Given the description of an element on the screen output the (x, y) to click on. 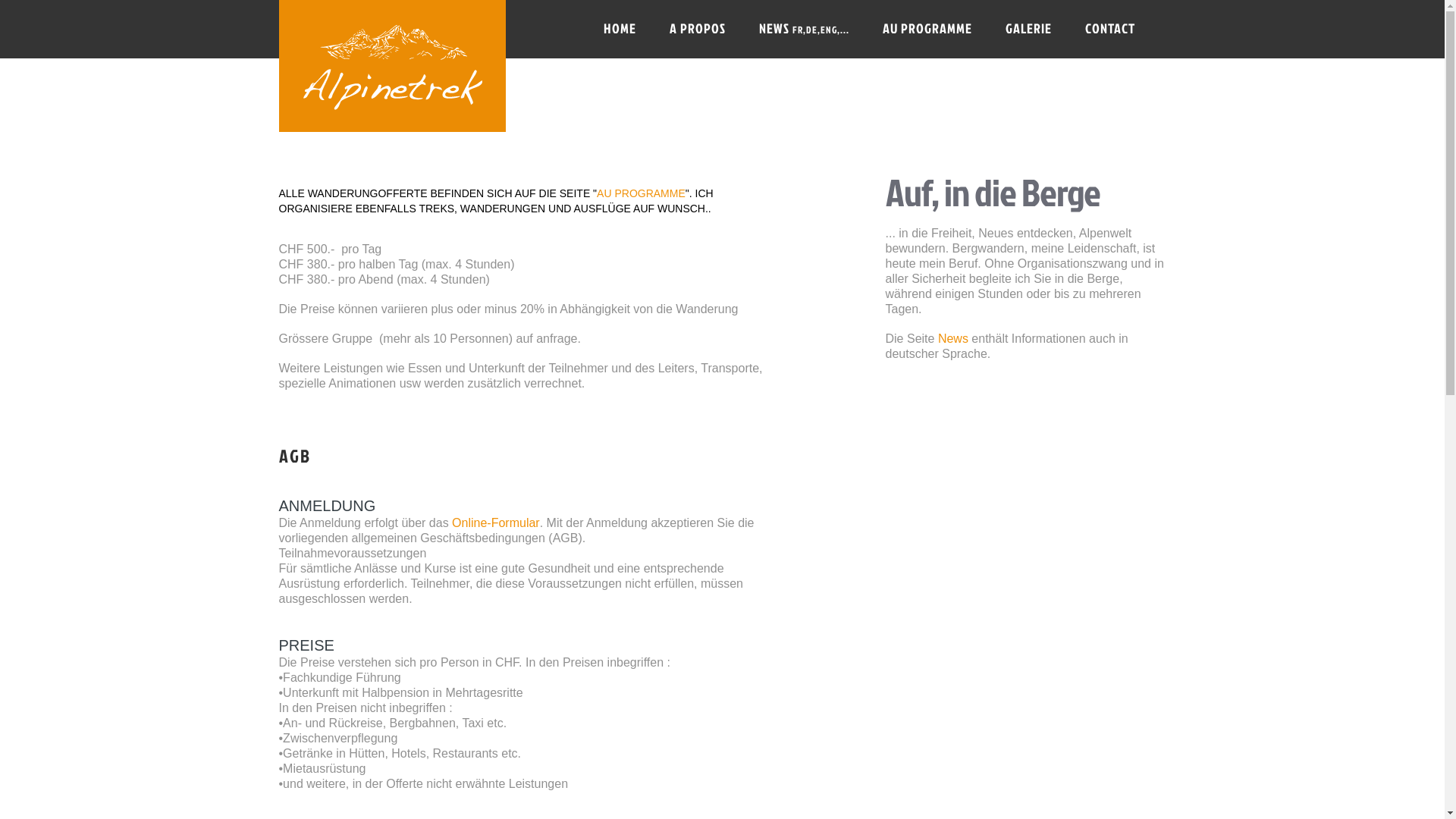
NEWS FR,DE,ENG,... Element type: text (803, 29)
A PROPOS Element type: text (696, 28)
CONTACT Element type: text (1109, 28)
AU PROGRAMME Element type: text (927, 28)
News Element type: text (953, 338)
Online-Formular Element type: text (495, 522)
HOME Element type: text (619, 28)
GALERIE Element type: text (1028, 28)
AU PROGRAMME Element type: text (640, 193)
